Given the description of an element on the screen output the (x, y) to click on. 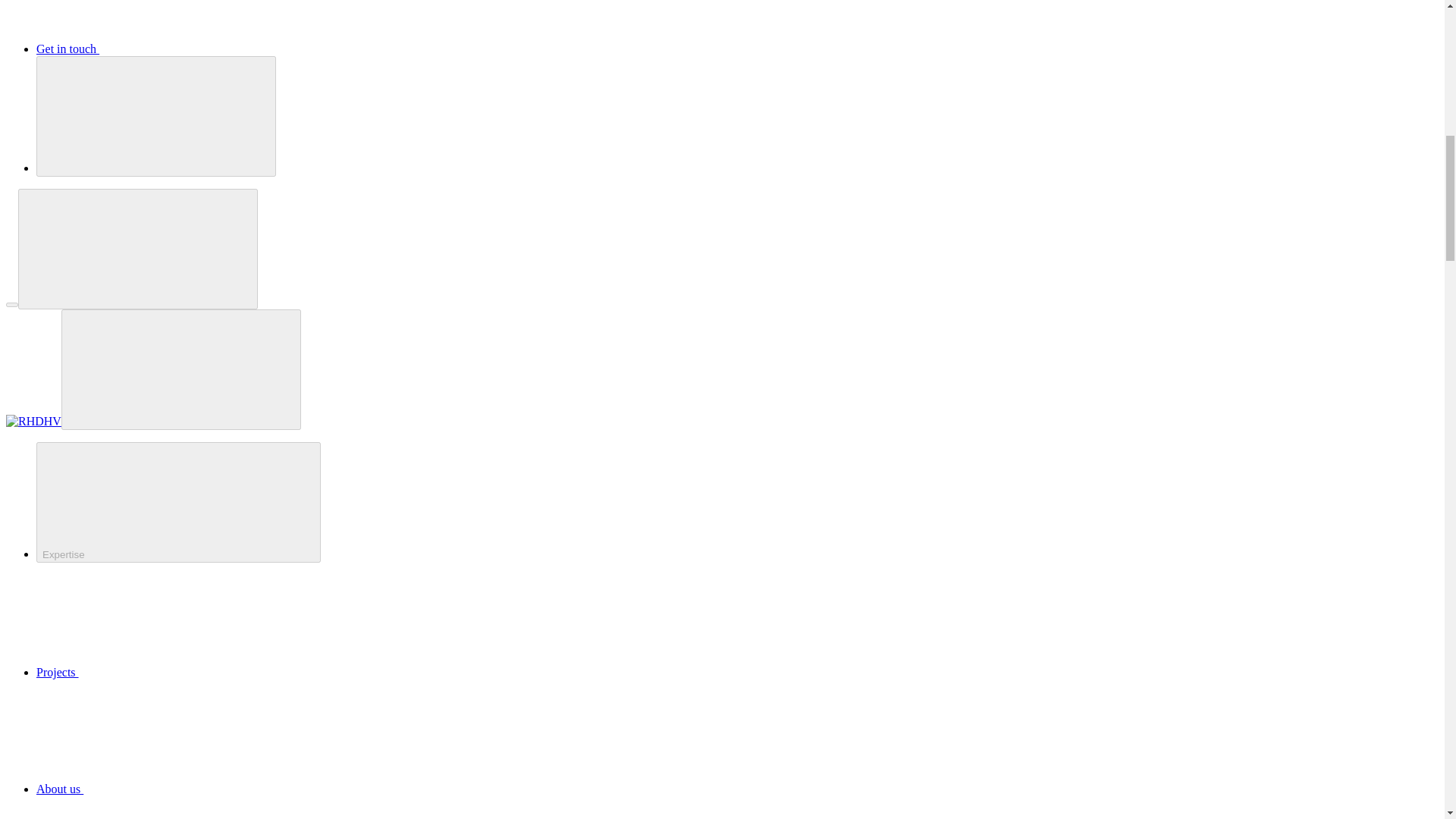
Get in touch (181, 48)
Expertise (178, 502)
Projects (170, 671)
About us (173, 788)
